Given the description of an element on the screen output the (x, y) to click on. 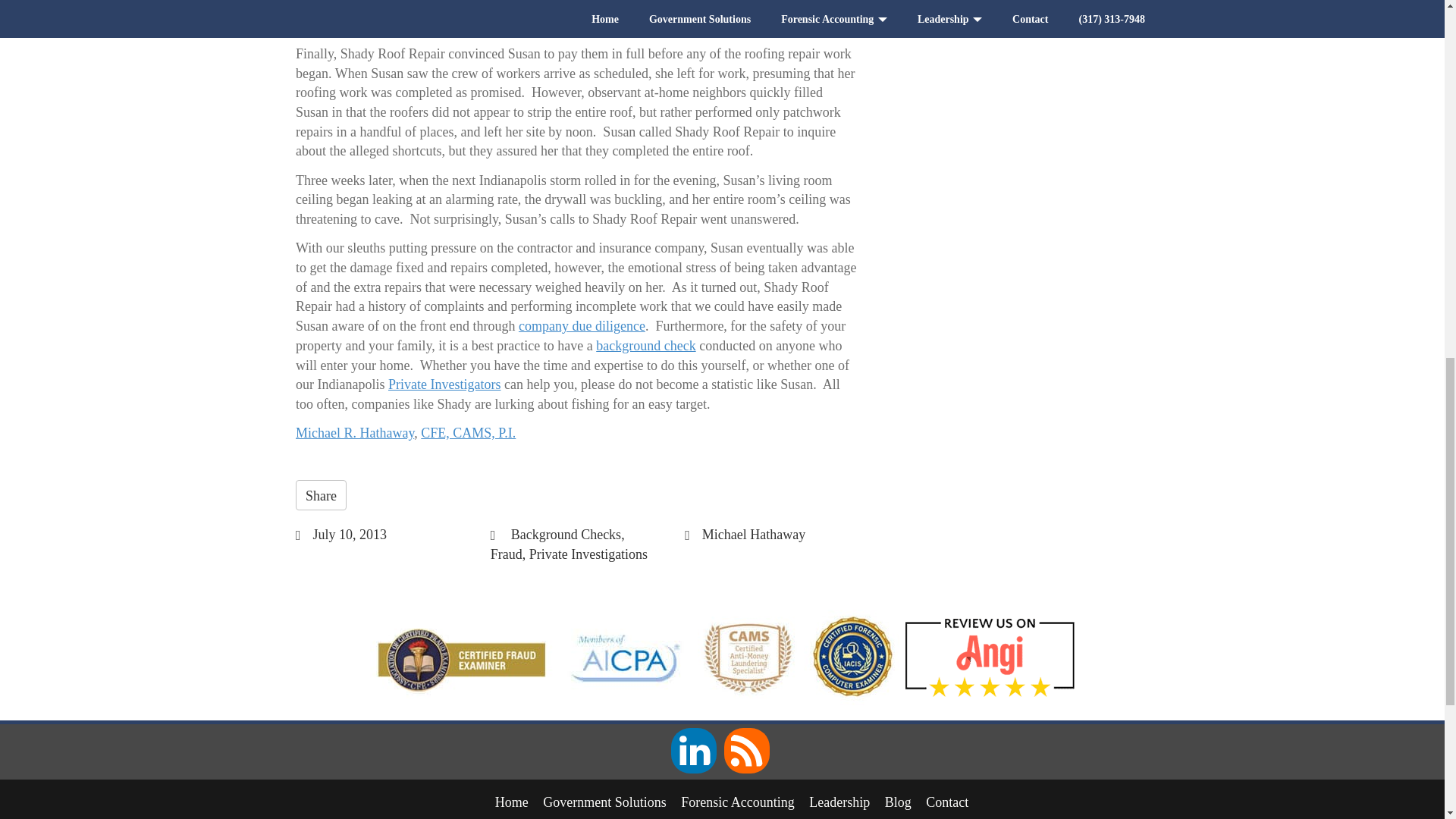
July 10, 2013 (350, 534)
CFFI Background Checks (484, 6)
Forensic Accountant (737, 801)
CFFI Private Investigators (444, 384)
CPAs and Private Investigators Indianapolis (511, 801)
Investigating Government Fraud (604, 801)
Private Investigators (444, 384)
company due diligence or background checks (484, 6)
Michael R. Hathaway (354, 432)
Permalink to Company Due Diligence and Background Checks (350, 534)
company due diligence (581, 325)
Background Checks (566, 534)
Private Investigations (588, 554)
CFE, CAMS, P.I. (467, 432)
Our Blog (898, 801)
